Given the description of an element on the screen output the (x, y) to click on. 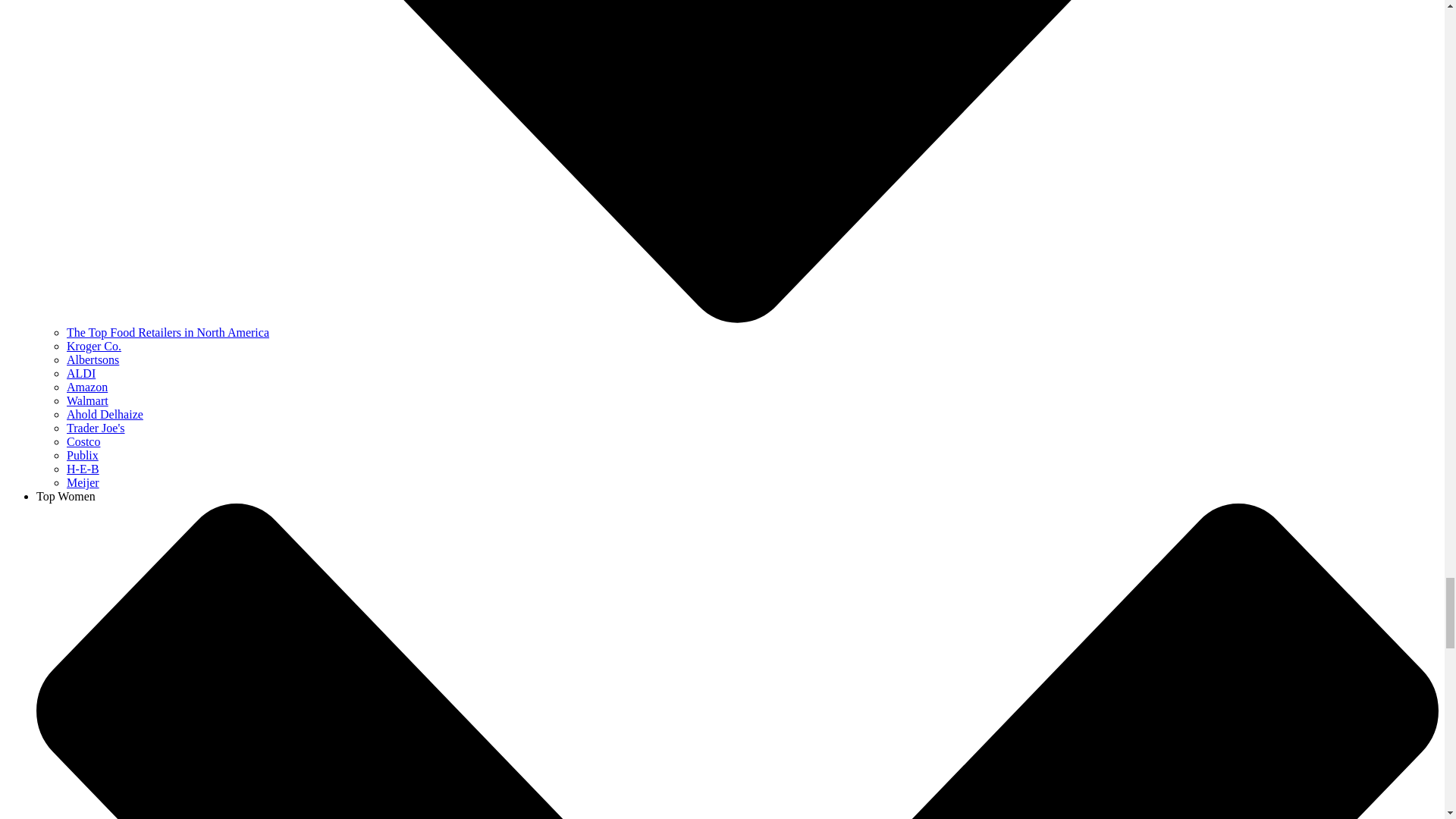
Walmart (86, 400)
Kroger Co. (93, 345)
Amazon (86, 386)
The Top Food Retailers in North America (167, 332)
Meijer (82, 481)
H-E-B (82, 468)
Top Women (66, 495)
ALDI (81, 373)
Albertsons (92, 359)
Ahold Delhaize (104, 413)
Publix (82, 454)
Trader Joe's (95, 427)
Costco (83, 440)
